Given the description of an element on the screen output the (x, y) to click on. 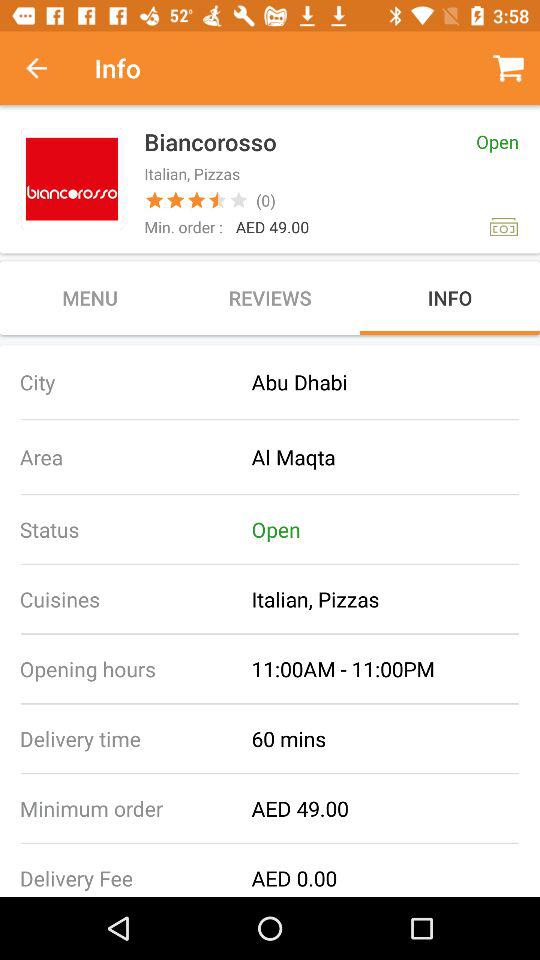
flip to al maqta icon (395, 456)
